Given the description of an element on the screen output the (x, y) to click on. 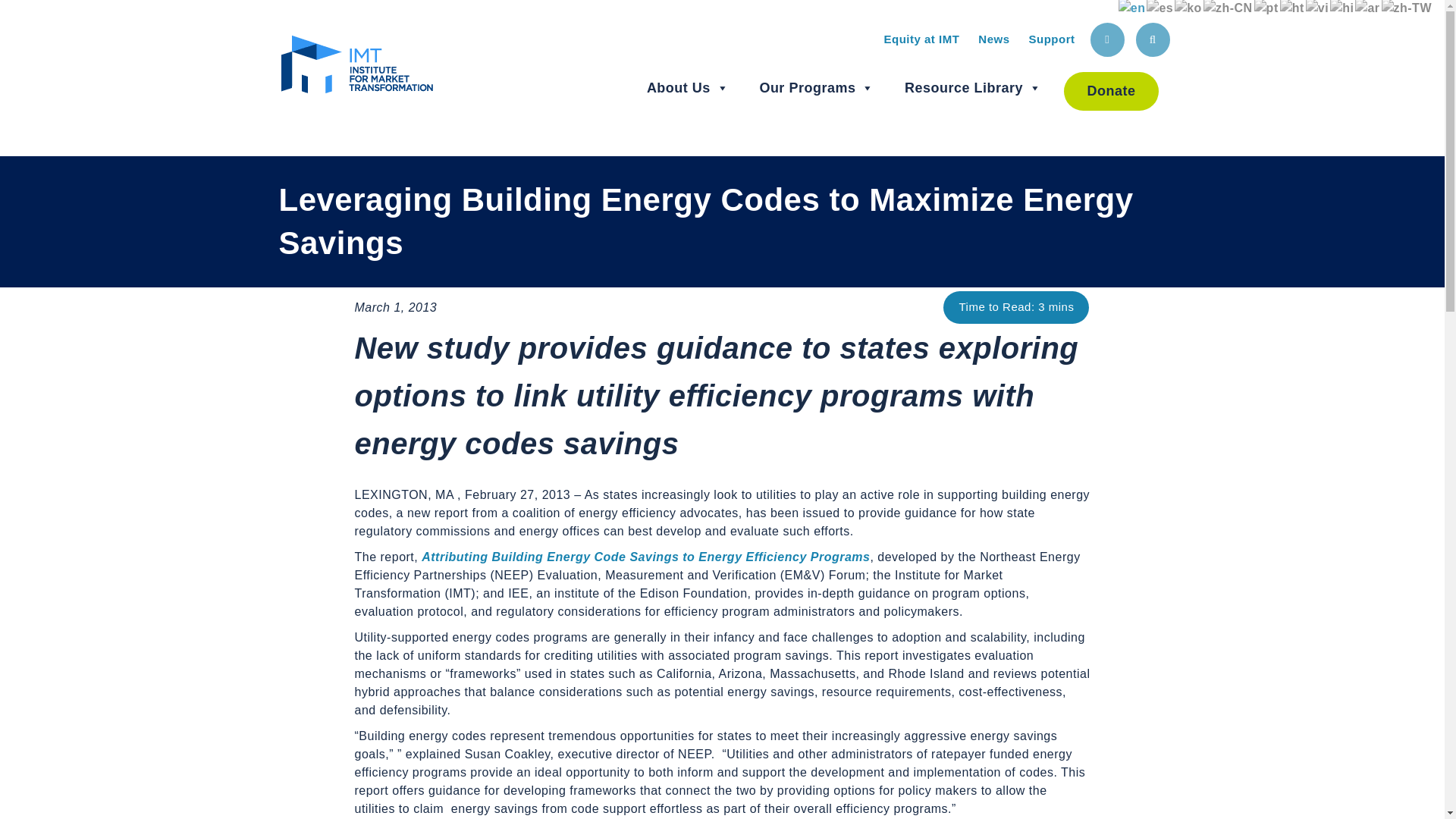
Our Programs (816, 87)
Equity at IMT (920, 39)
News (993, 39)
Search (1152, 39)
English (1132, 6)
Resource Library (972, 87)
About Us (687, 87)
Kreyol ayisyen (1292, 6)
Support (1051, 39)
